Given the description of an element on the screen output the (x, y) to click on. 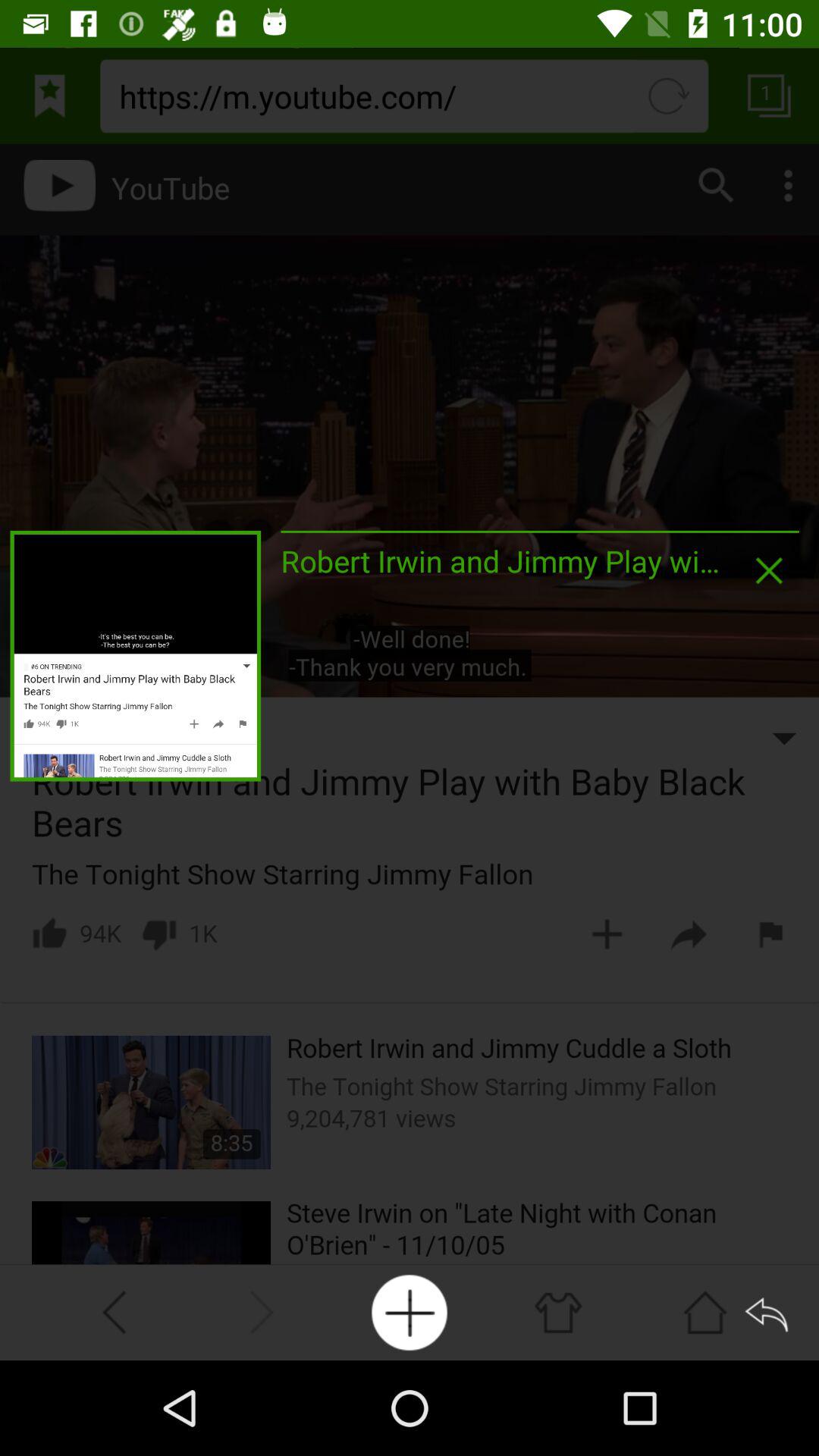
turn on the robert irwin and icon (499, 560)
